Given the description of an element on the screen output the (x, y) to click on. 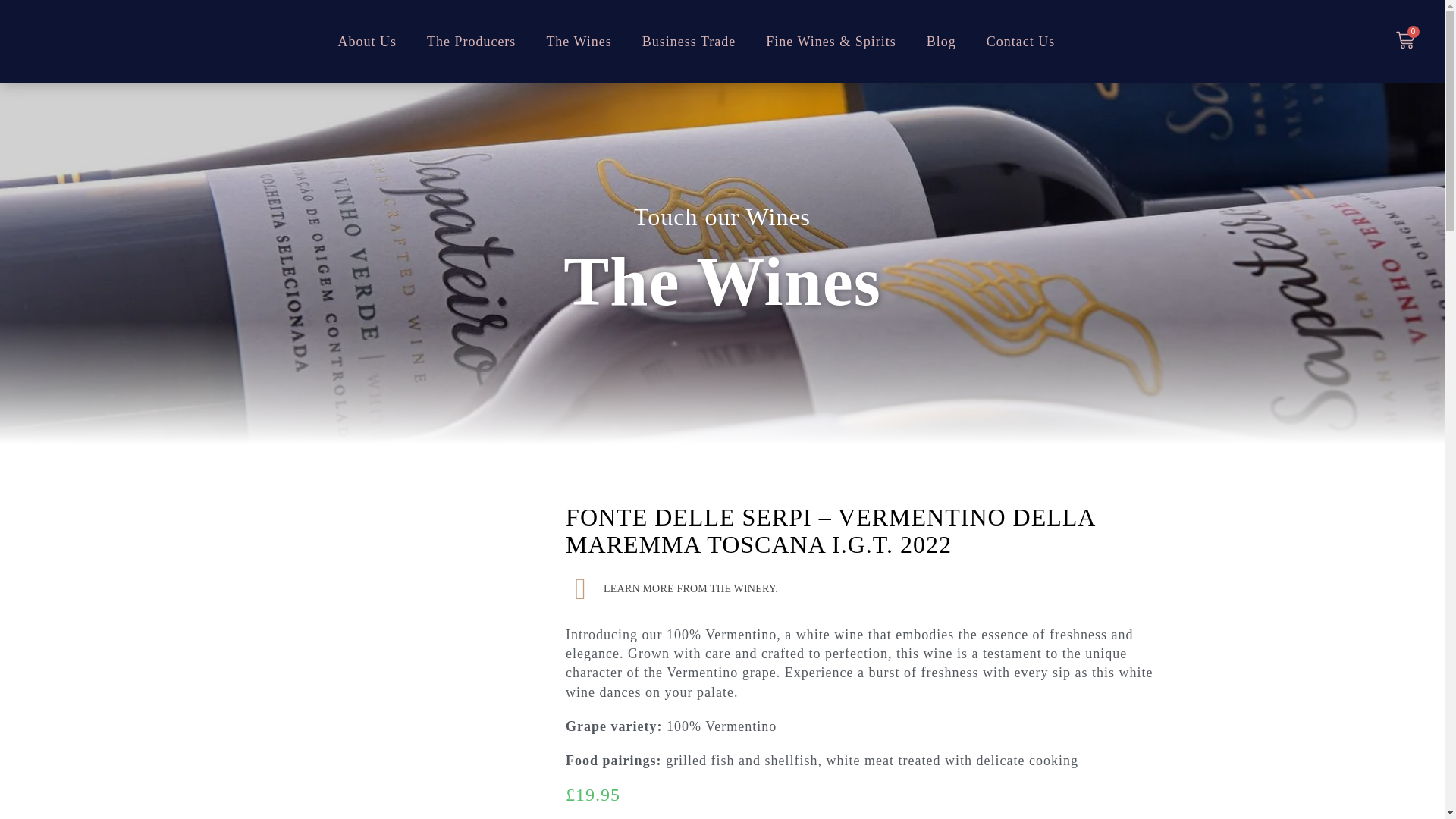
Contact Us (1020, 41)
0 (1404, 41)
The Producers (471, 41)
Business Trade (689, 41)
Blog (941, 41)
About Us (366, 41)
The Wines (578, 41)
